Given the description of an element on the screen output the (x, y) to click on. 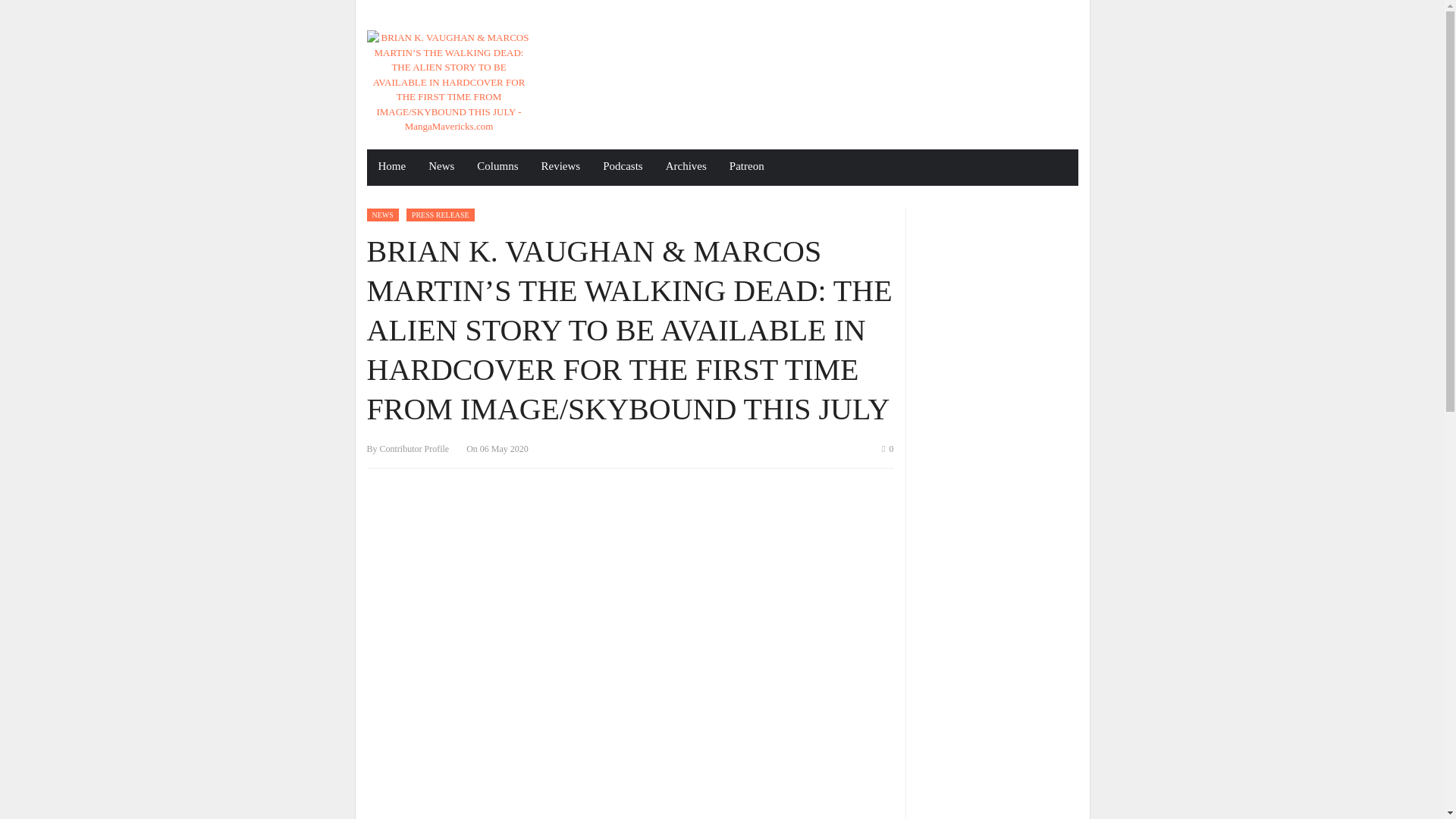
Podcasts (622, 166)
Reviews (560, 166)
Archives (685, 166)
Columns (497, 166)
Home (391, 166)
News (440, 166)
